Given the description of an element on the screen output the (x, y) to click on. 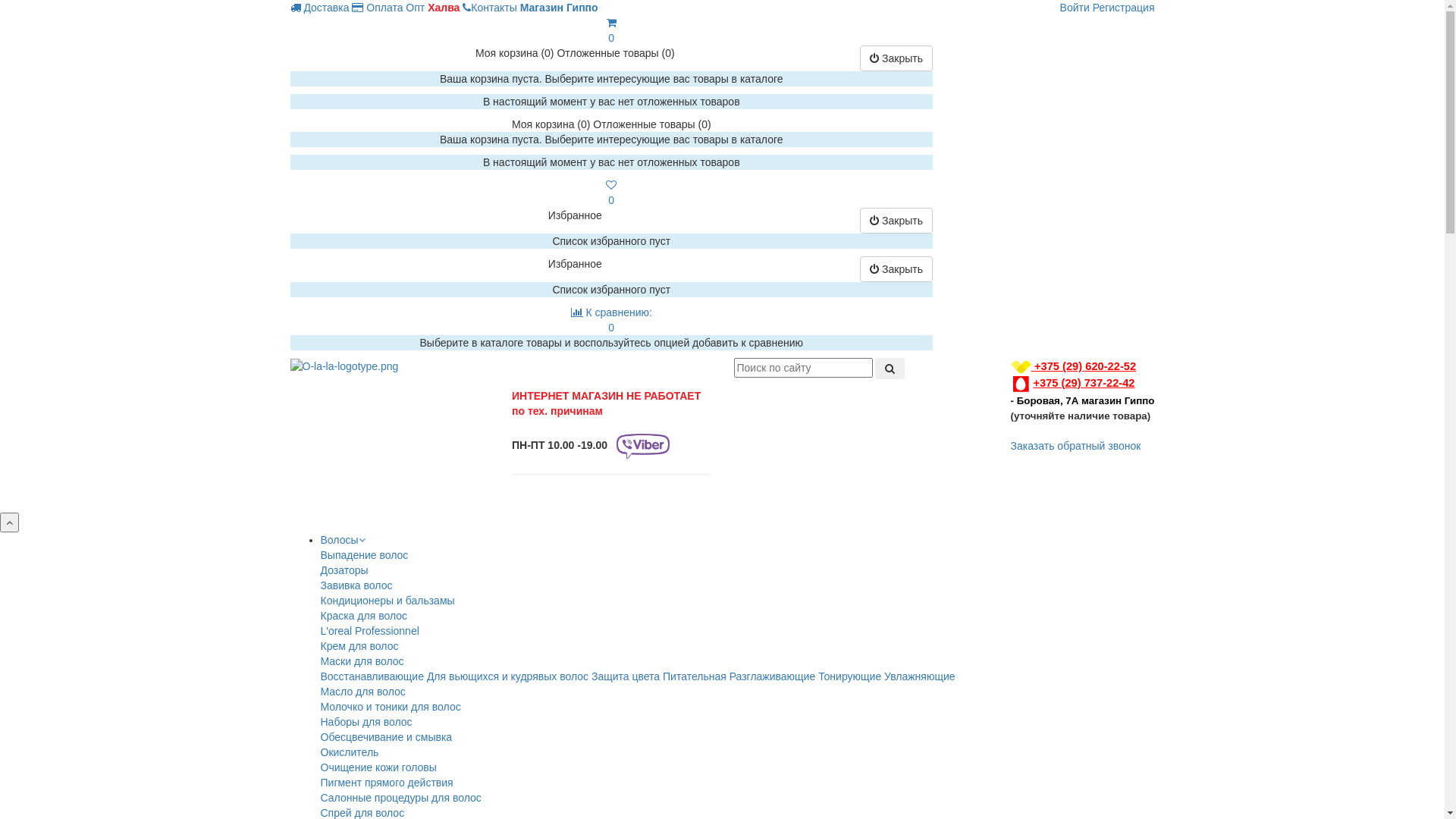
-22-42 Element type: text (1118, 382)
viber.png Element type: hover (642, 445)
+375 (29) Element type: text (1045, 382)
L'oreal Professionnel Element type: text (369, 630)
0 Element type: text (610, 192)
O-la-la-logotype.png Element type: hover (343, 365)
0 Element type: text (611, 29)
mts_tel.png Element type: hover (1020, 383)
velcom.png Element type: hover (1020, 366)
+375 (29) Element type: text (1046, 366)
620-22- Element type: text (1104, 366)
737 Element type: text (1092, 382)
